Given the description of an element on the screen output the (x, y) to click on. 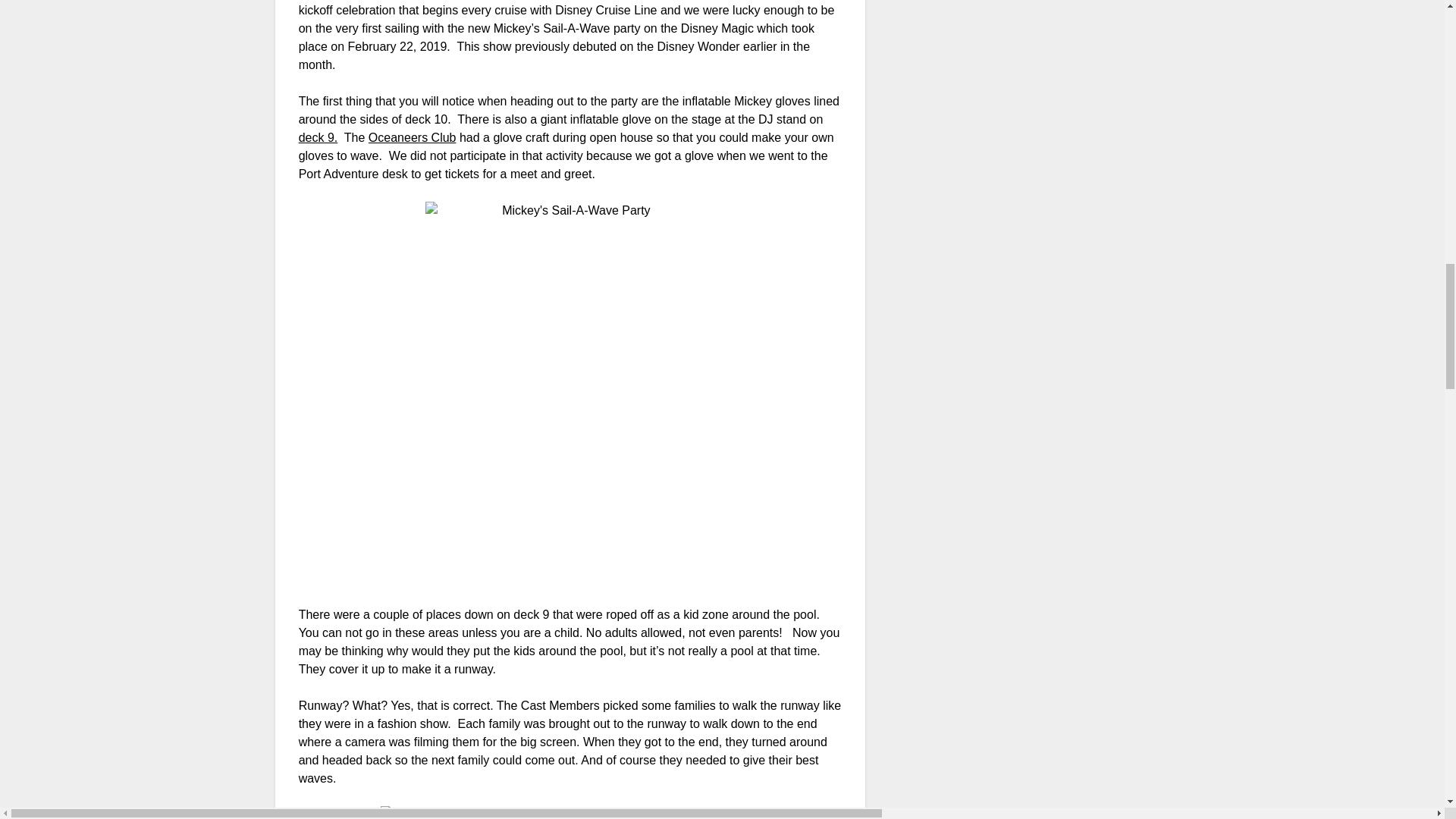
Oceaneers Club (412, 137)
deck 9. (317, 137)
